Given the description of an element on the screen output the (x, y) to click on. 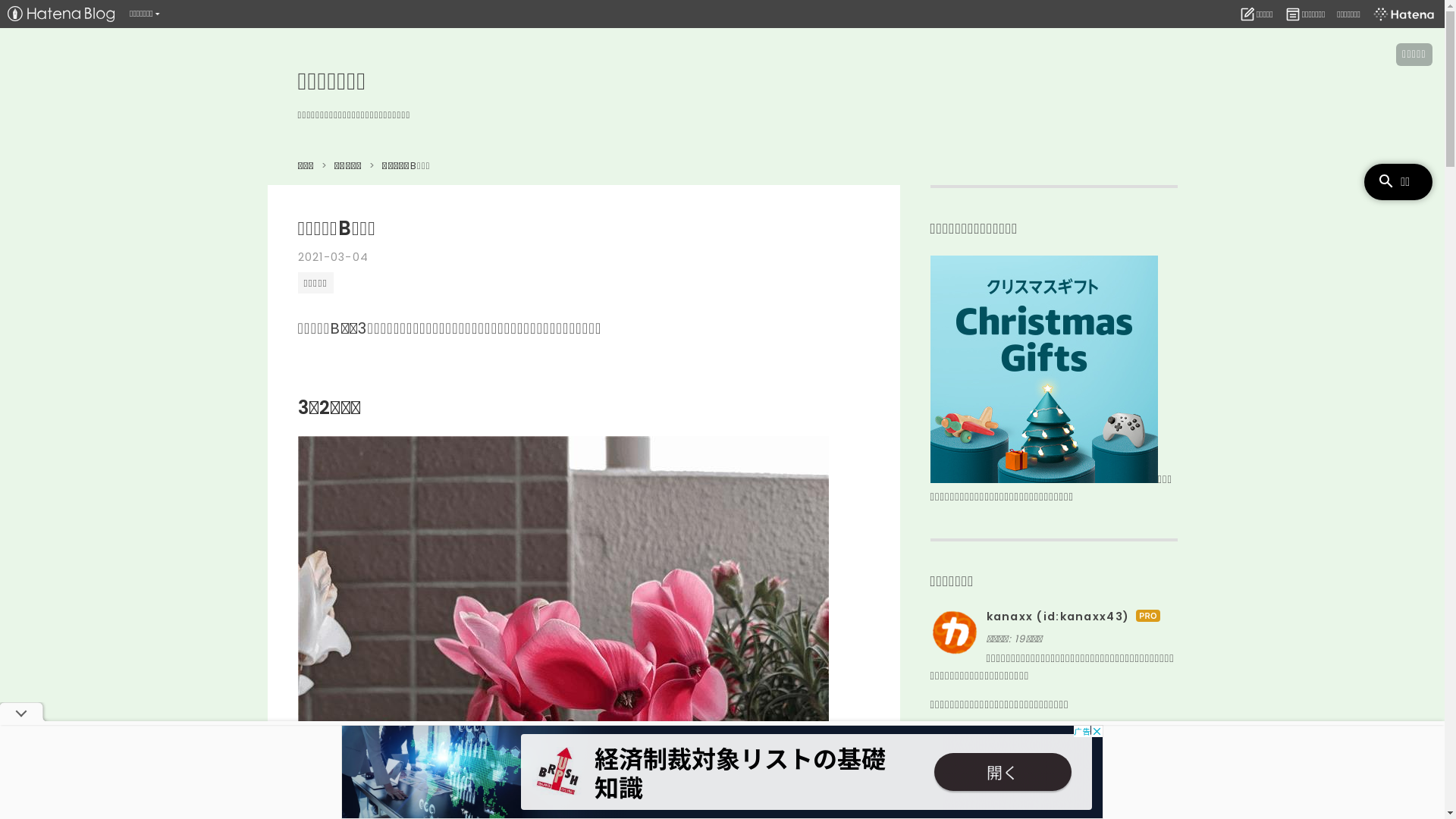
2021-03-04 Element type: text (332, 256)
kanaxx (id:kanaxx43) Element type: text (1057, 616)
